Given the description of an element on the screen output the (x, y) to click on. 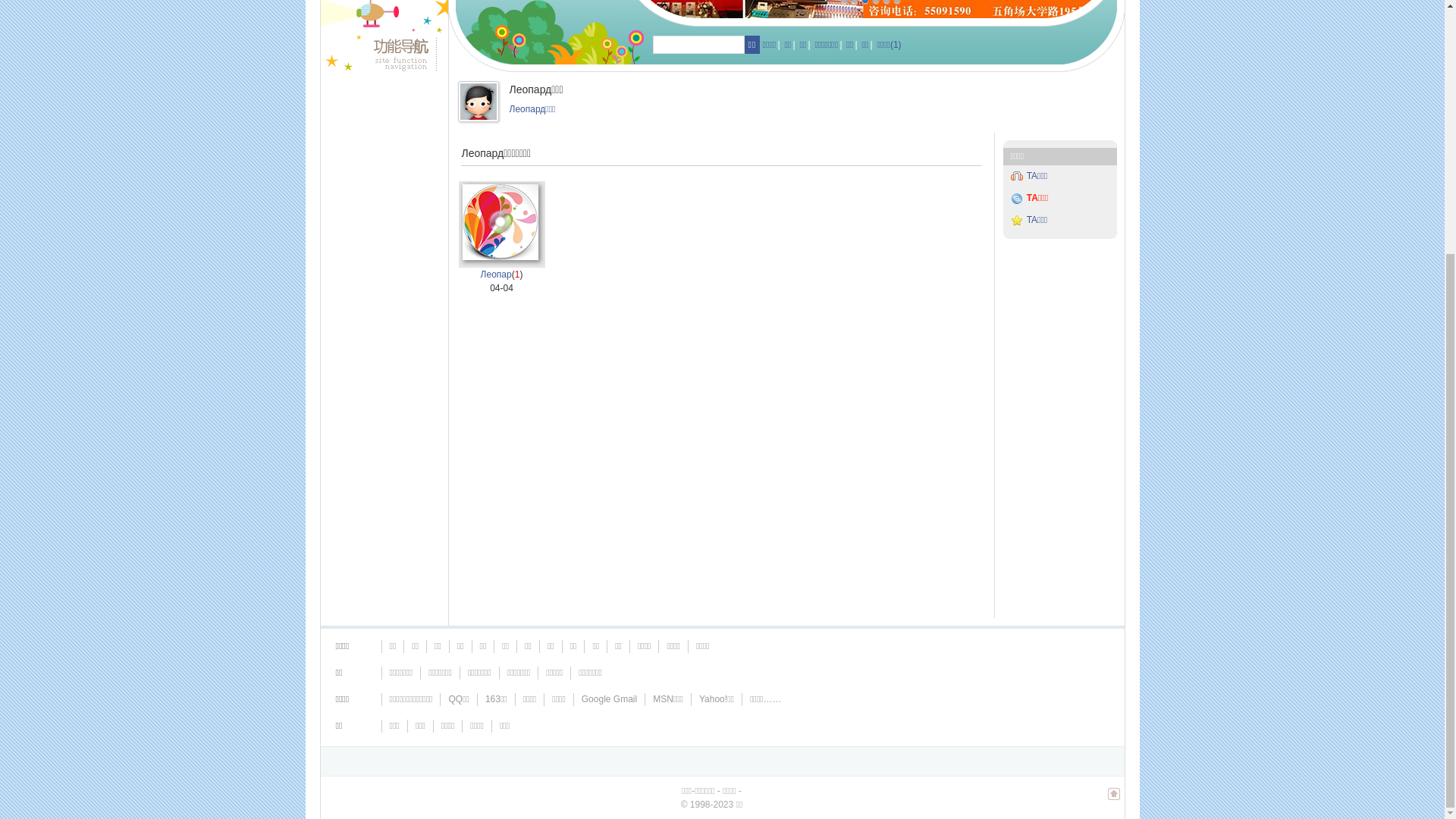
1 Element type: text (843, 359)
5 Element type: text (886, 359)
4 Element type: text (875, 359)
3 Element type: text (865, 359)
6 Element type: text (896, 359)
2 Element type: text (854, 359)
